Given the description of an element on the screen output the (x, y) to click on. 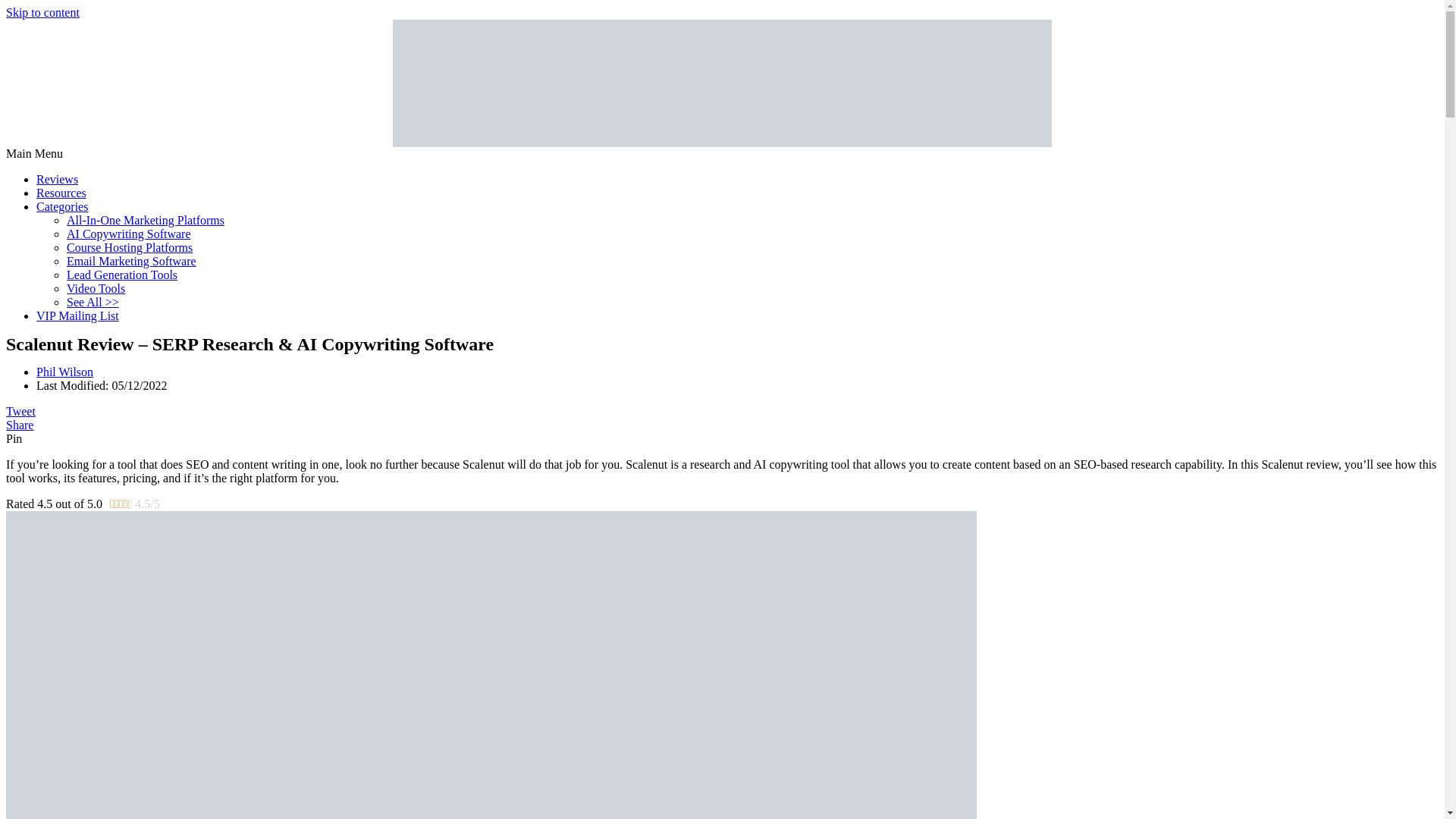
Tweet (19, 410)
Lead Generation Tools (121, 274)
Video Tools (95, 287)
Phil Wilson (64, 371)
Skip to content (42, 11)
Email Marketing Software (131, 260)
All-In-One Marketing Platforms (145, 219)
Reviews (57, 178)
Share (19, 424)
Resources (60, 192)
VIP Mailing List (77, 315)
Course Hosting Platforms (129, 246)
Pin (13, 438)
AI Copywriting Software (128, 233)
Categories (61, 205)
